Given the description of an element on the screen output the (x, y) to click on. 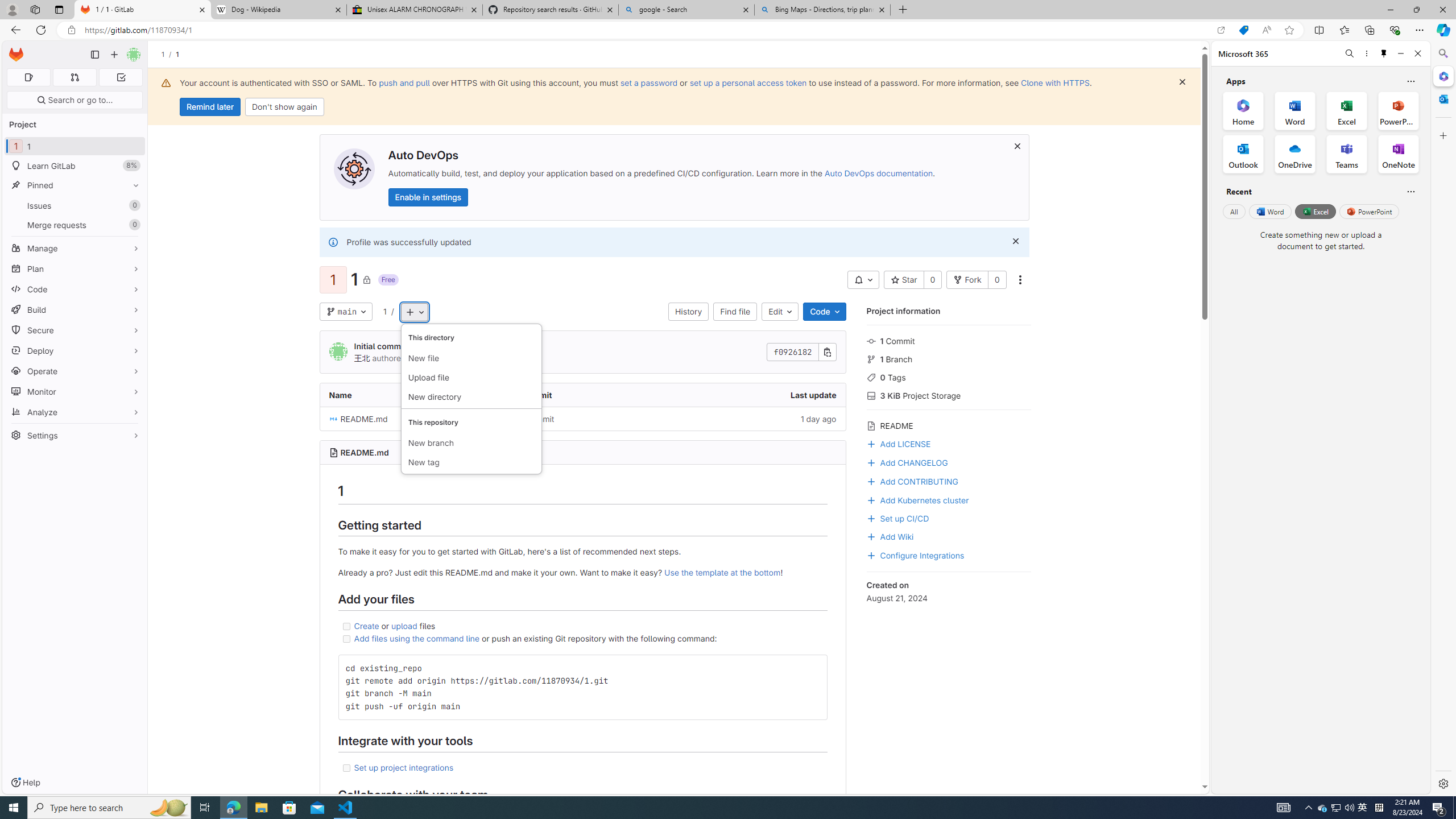
Create new... (113, 54)
Dismiss (1015, 241)
Don't show again (284, 106)
Issues 0 (74, 205)
1 Branch (948, 358)
OneNote Office App (1398, 154)
Analyze (74, 411)
Shopping in Microsoft Edge (1243, 29)
Unpin Issues (132, 205)
Class: s16 gl-alert-icon gl-alert-icon-no-title (332, 241)
